Given the description of an element on the screen output the (x, y) to click on. 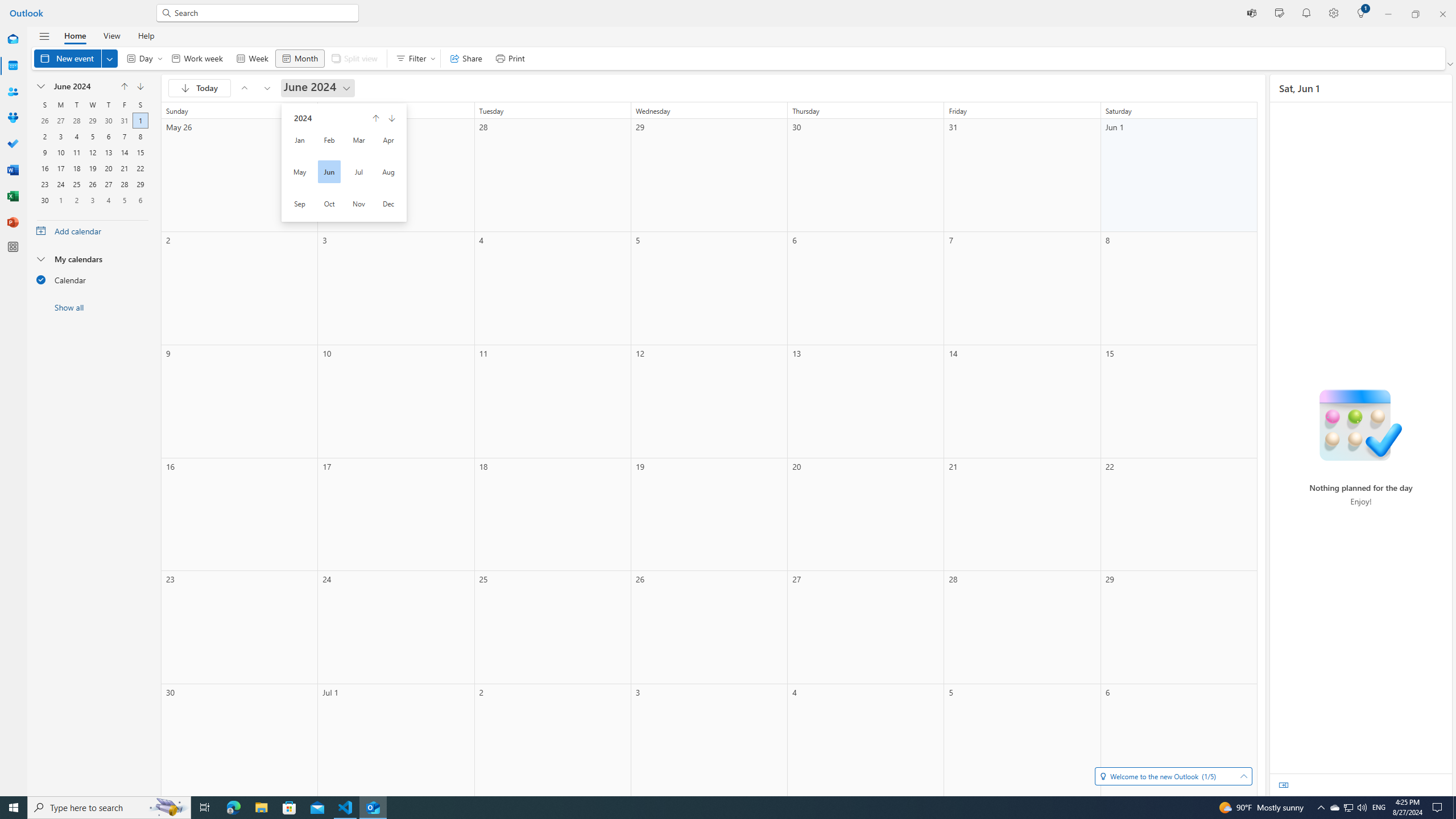
20, June, 2024 (108, 167)
6, July, 2024 (140, 198)
26, May, 2024 (44, 119)
6, July, 2024 (140, 199)
22, June, 2024 (140, 167)
Go to previous month May (124, 86)
28, May, 2024 (75, 119)
Go to today August 27, 2024 (199, 88)
Friday (124, 104)
Print (510, 58)
30, June, 2024 (44, 198)
2, July, 2024 (75, 199)
